Given the description of an element on the screen output the (x, y) to click on. 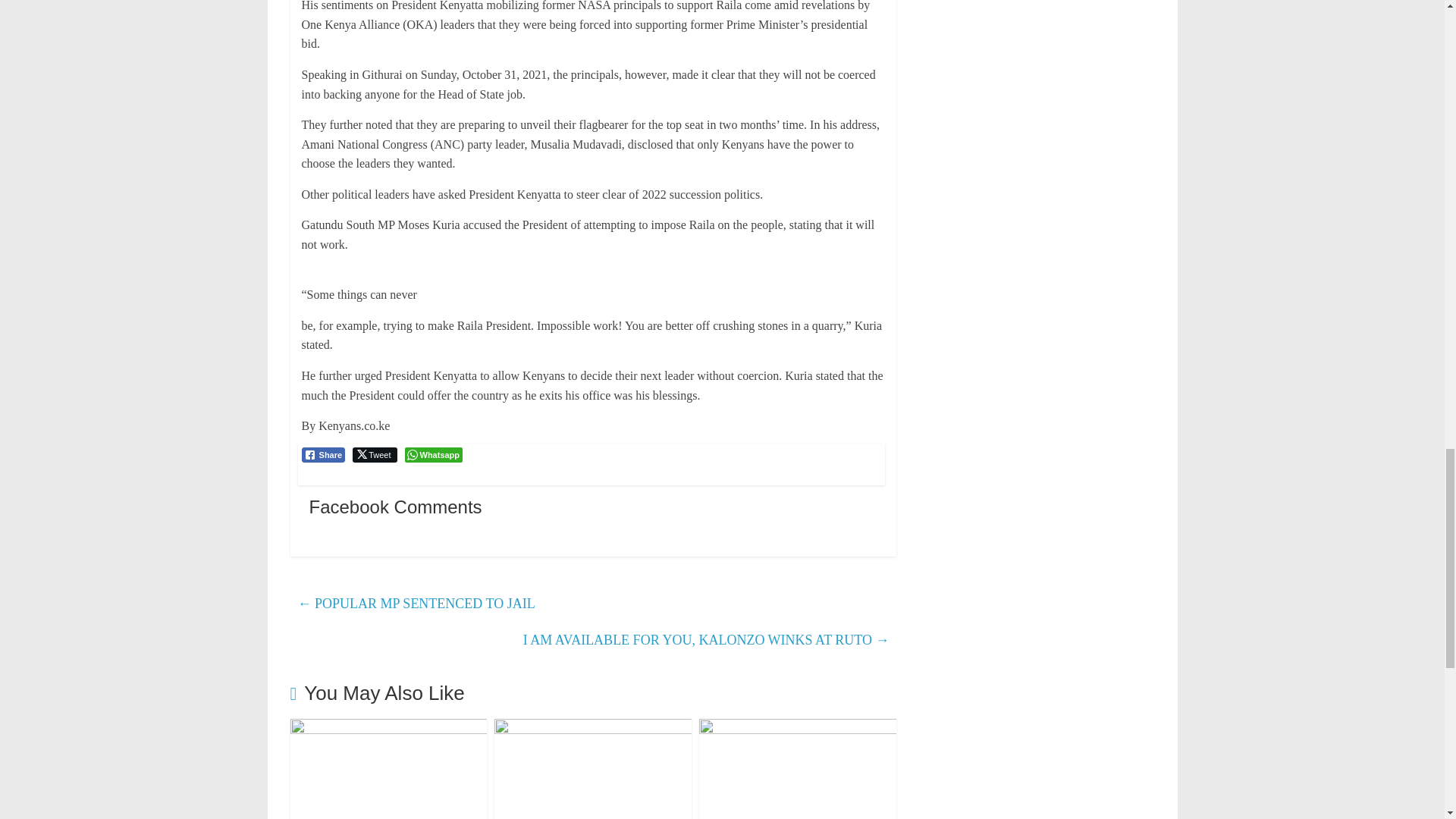
Whatsapp (433, 454)
Tweet (374, 454)
Share (323, 454)
LIST OF MINISTERS WHO HAVE RESIGNED TO JOIN POLITICS (387, 727)
